Given the description of an element on the screen output the (x, y) to click on. 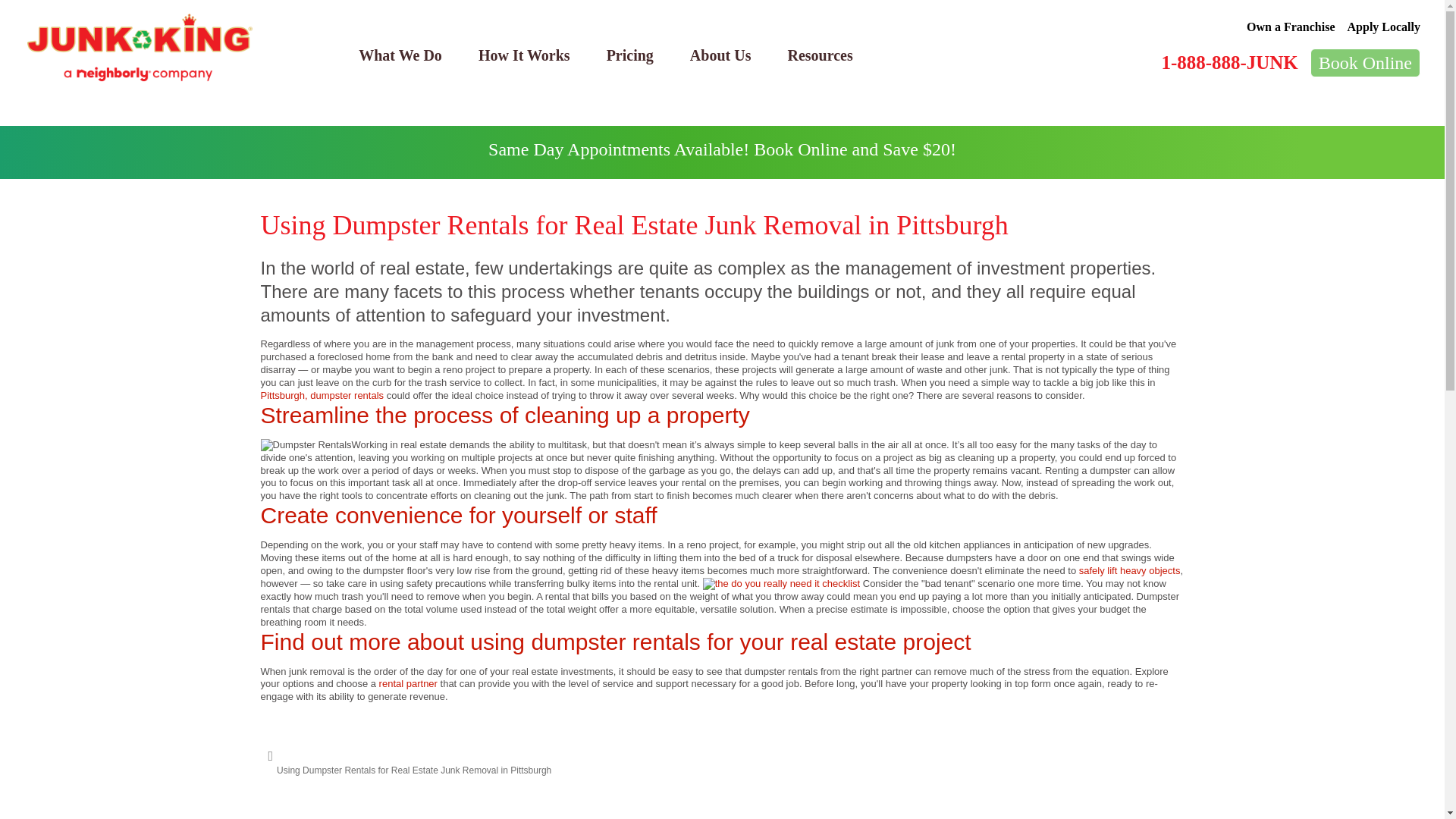
Book Online (1365, 62)
1-888-888-JUNK (1228, 62)
How It Works (524, 54)
Apply Locally (1384, 27)
Junk King (139, 47)
Banner Pane (721, 152)
Resources (819, 54)
Own a Franchise (1290, 27)
Pricing (629, 54)
What We Do (400, 54)
About Us (720, 54)
